Given the description of an element on the screen output the (x, y) to click on. 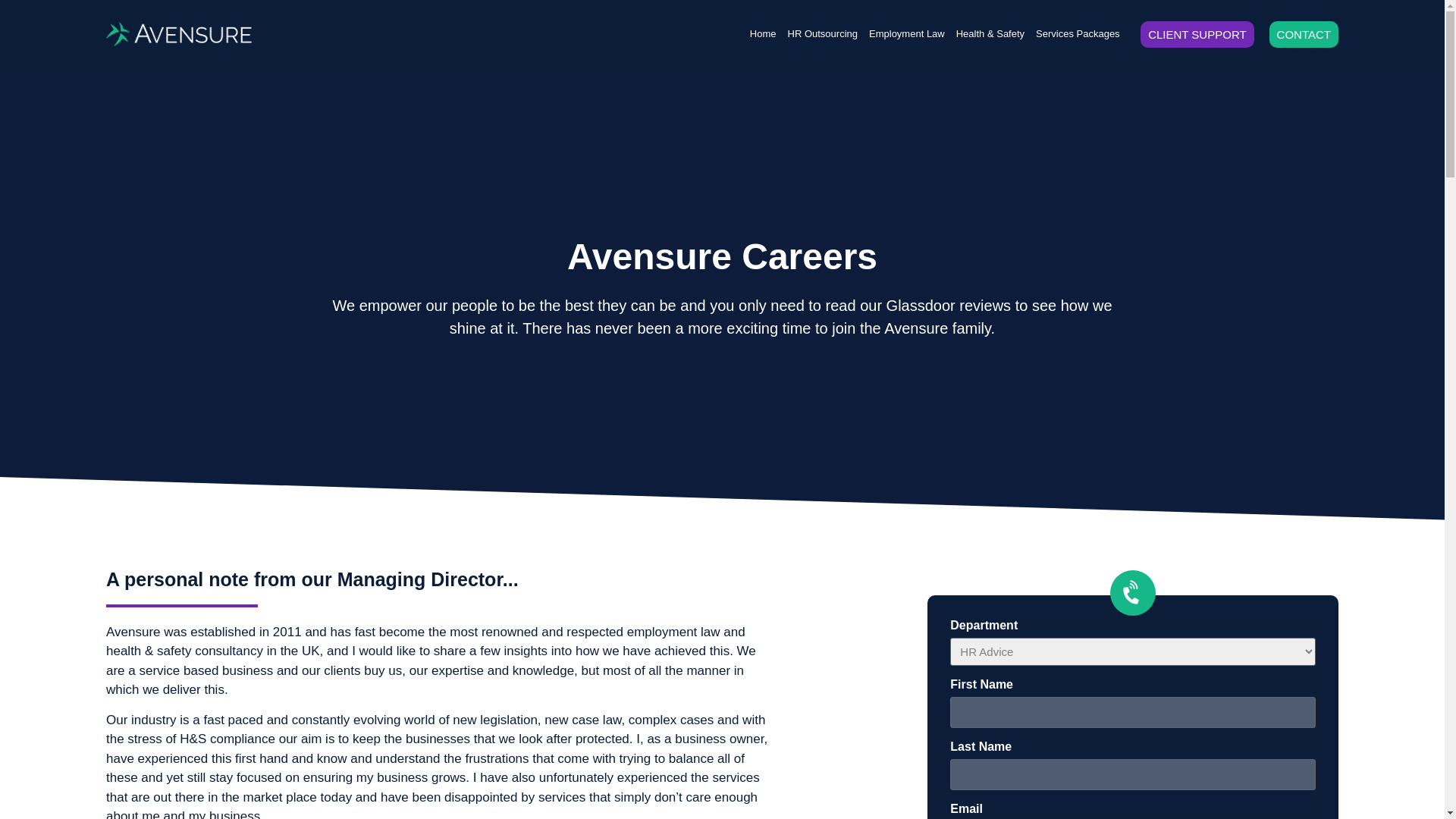
Employment Law (906, 33)
Employment Law Advice For Employers (906, 33)
CONTACT (1303, 34)
HR Outsourcing (822, 33)
CLIENT SUPPORT (1196, 34)
HR Outsourcing Services (822, 33)
Home (762, 33)
Services Packages (1077, 33)
Services Packages (1077, 33)
Home (762, 33)
